Given the description of an element on the screen output the (x, y) to click on. 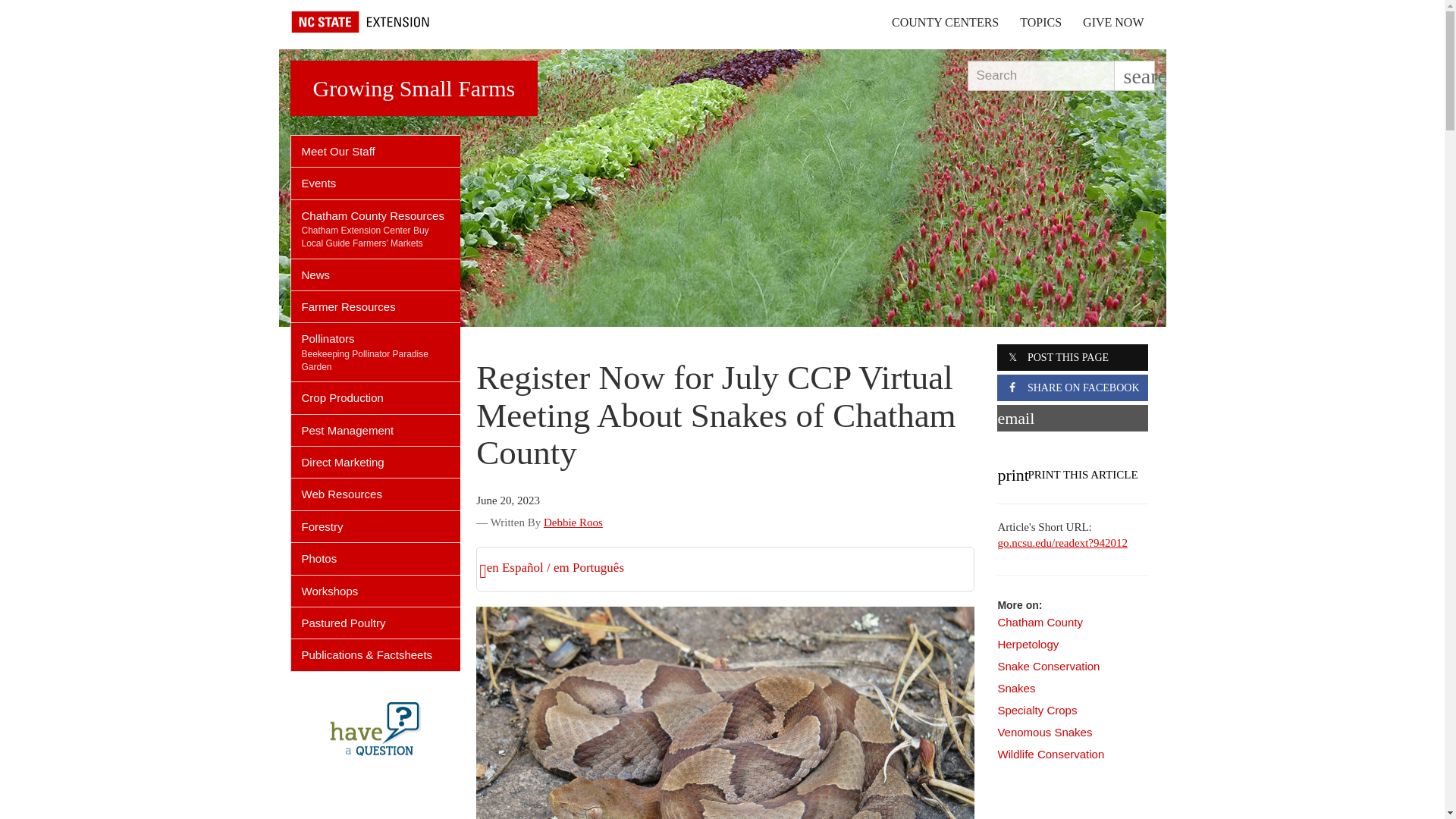
Crop Production (376, 397)
News (376, 274)
Direct Marketing (376, 461)
GIVE NOW (1112, 22)
Pest Management (376, 429)
Buy Local Guide (365, 236)
Beekeeping (325, 353)
Meet Our Staff (376, 151)
Forestry (376, 526)
Pastured Poultry (376, 622)
Events (376, 183)
Growing Small Farms (413, 88)
Workshops (376, 590)
Pollinators (376, 334)
